Given the description of an element on the screen output the (x, y) to click on. 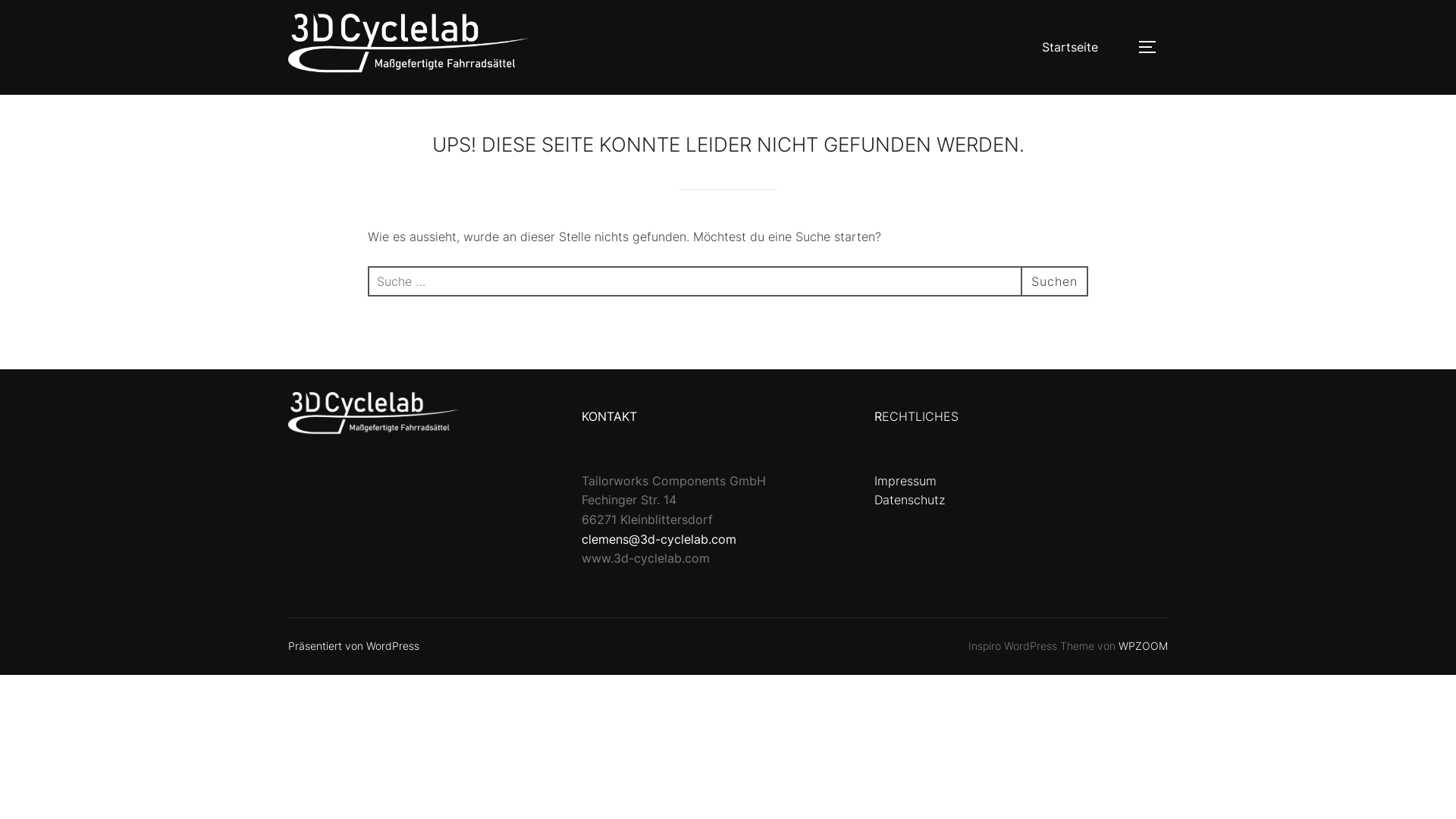
WPZOOM Element type: text (1142, 645)
Impressum Element type: text (905, 480)
clemens@3d-cyclelab.com Element type: text (658, 538)
Seitenleiste & Navigation umschalten Element type: text (1152, 46)
Startseite Element type: text (1069, 46)
Suchen Element type: text (1054, 281)
Datenschutz Element type: text (909, 499)
